Given the description of an element on the screen output the (x, y) to click on. 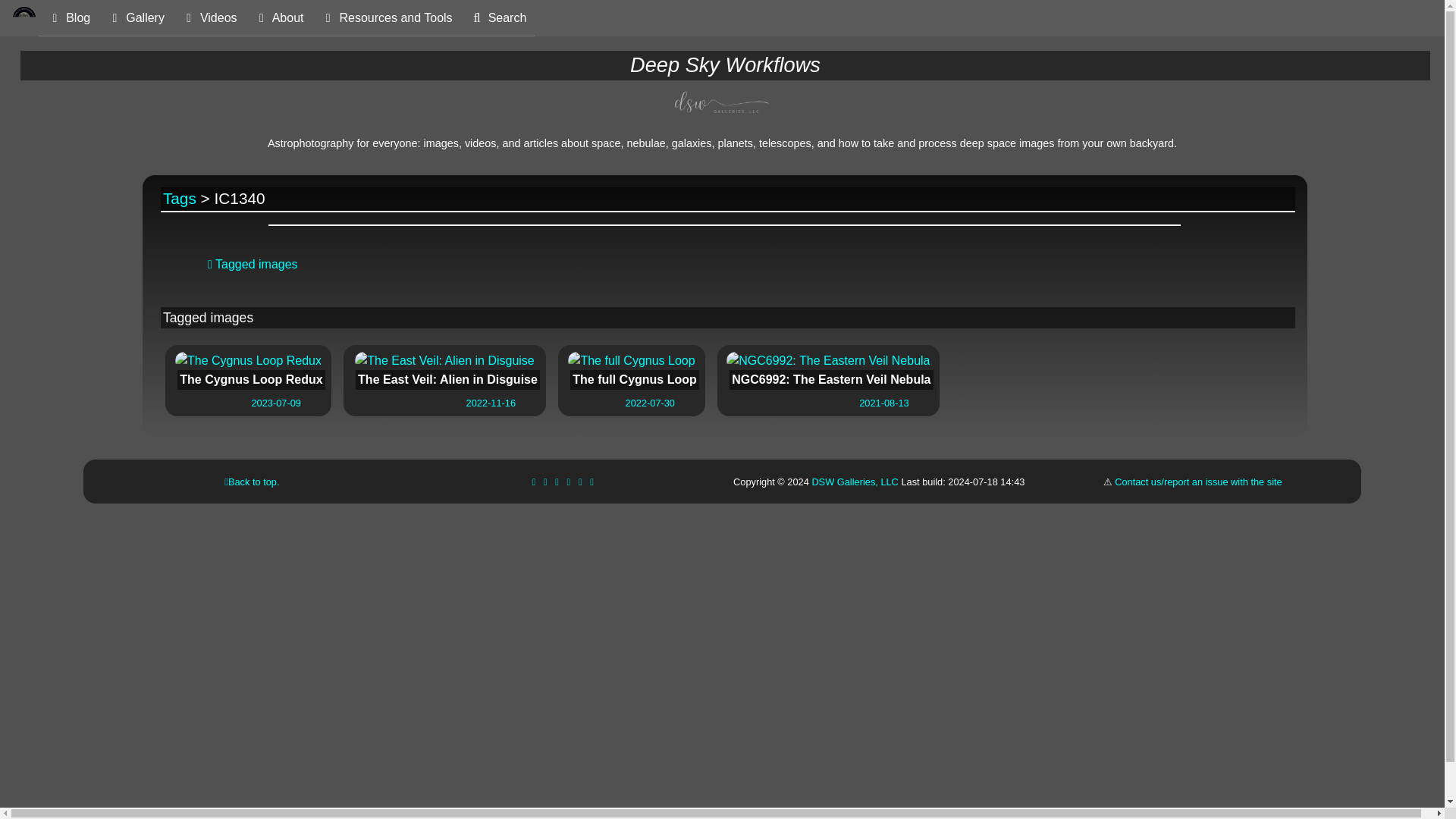
Back to top. (251, 481)
DSW Galleries, LLC (854, 481)
Tagged images (253, 264)
Resources and Tools (386, 18)
About (444, 370)
Gallery (278, 18)
Tags (135, 18)
Blog (631, 370)
Videos (179, 198)
Search (68, 18)
